Given the description of an element on the screen output the (x, y) to click on. 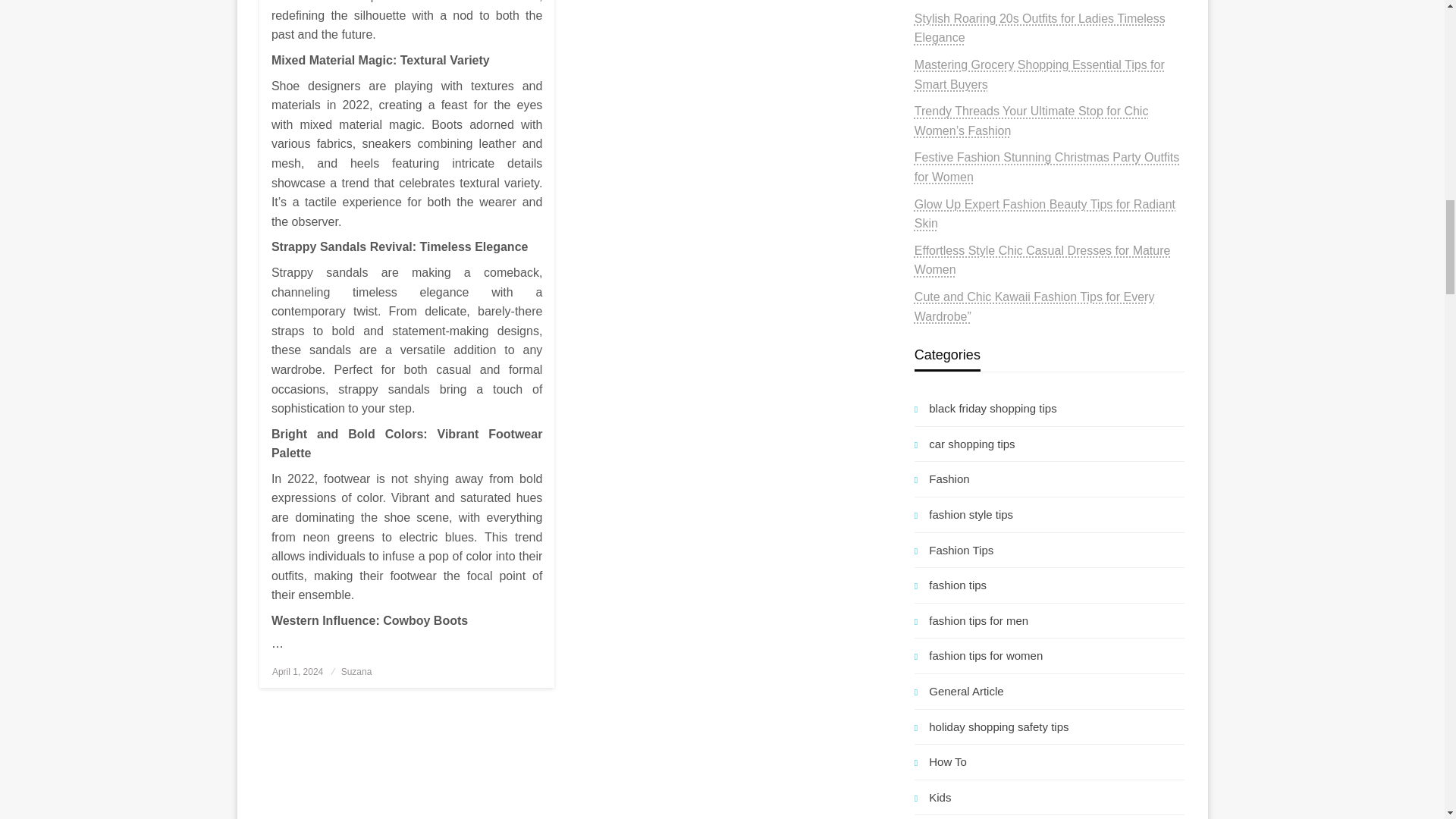
Suzana (356, 671)
April 1, 2024 (297, 671)
Suzana (356, 671)
